Given the description of an element on the screen output the (x, y) to click on. 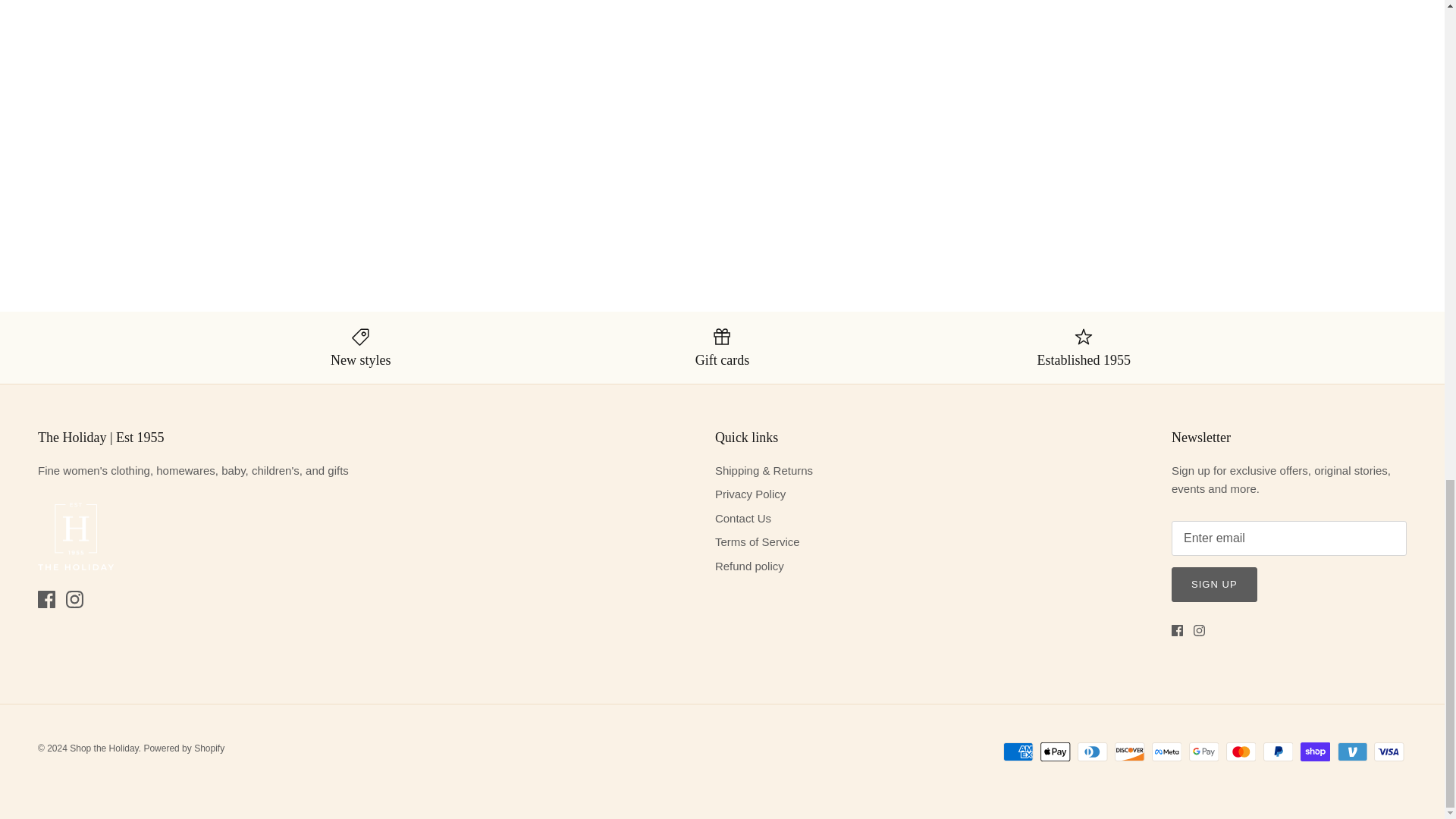
Diners Club (1092, 751)
Facebook (46, 599)
Discover (1129, 751)
Instagram (1199, 630)
Apple Pay (1055, 751)
Facebook (1177, 630)
American Express (1018, 751)
Instagram (73, 599)
